Given the description of an element on the screen output the (x, y) to click on. 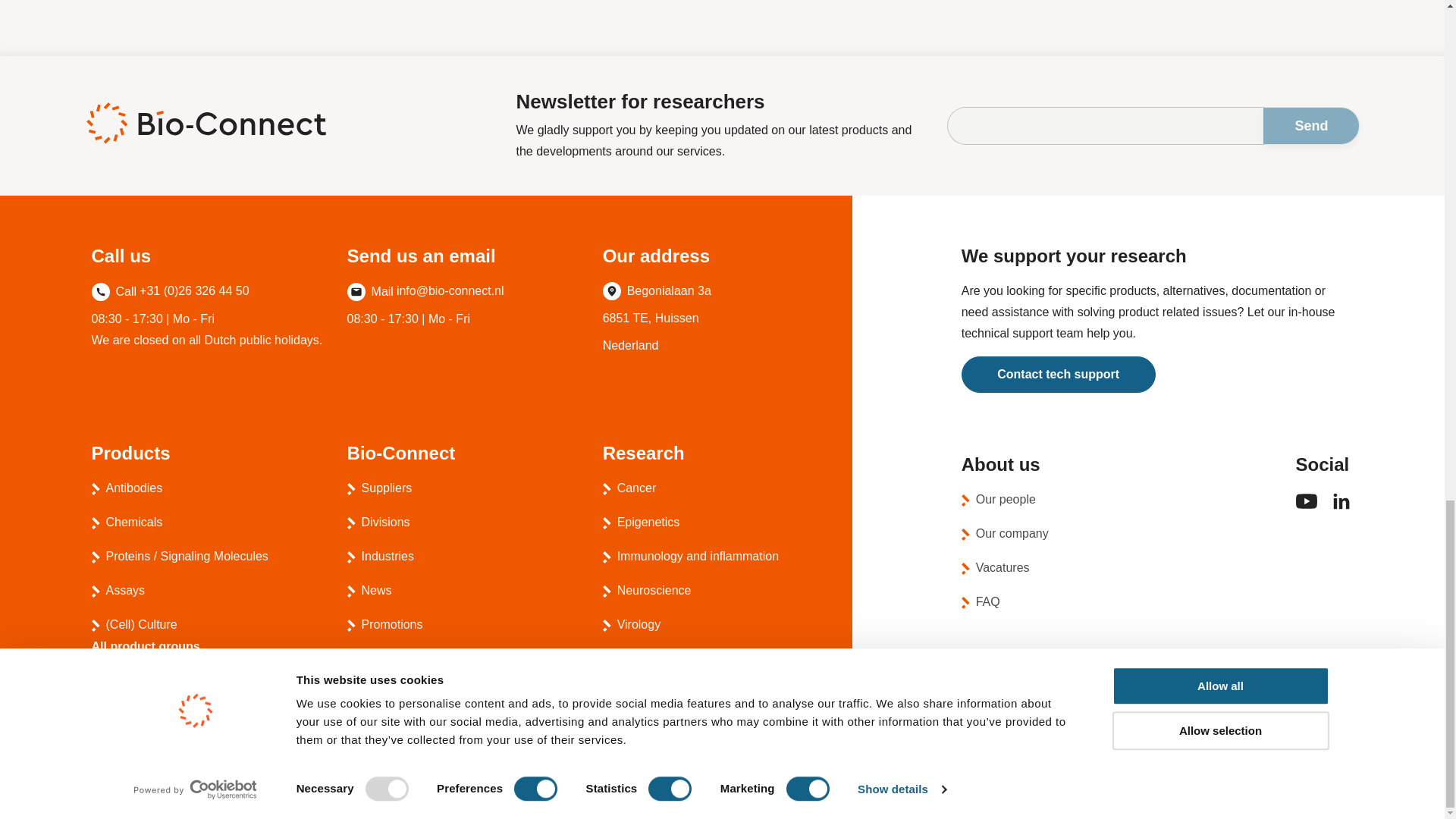
YouTube (1306, 507)
LinkedIn (1341, 508)
Bio-Connect (205, 122)
